Given the description of an element on the screen output the (x, y) to click on. 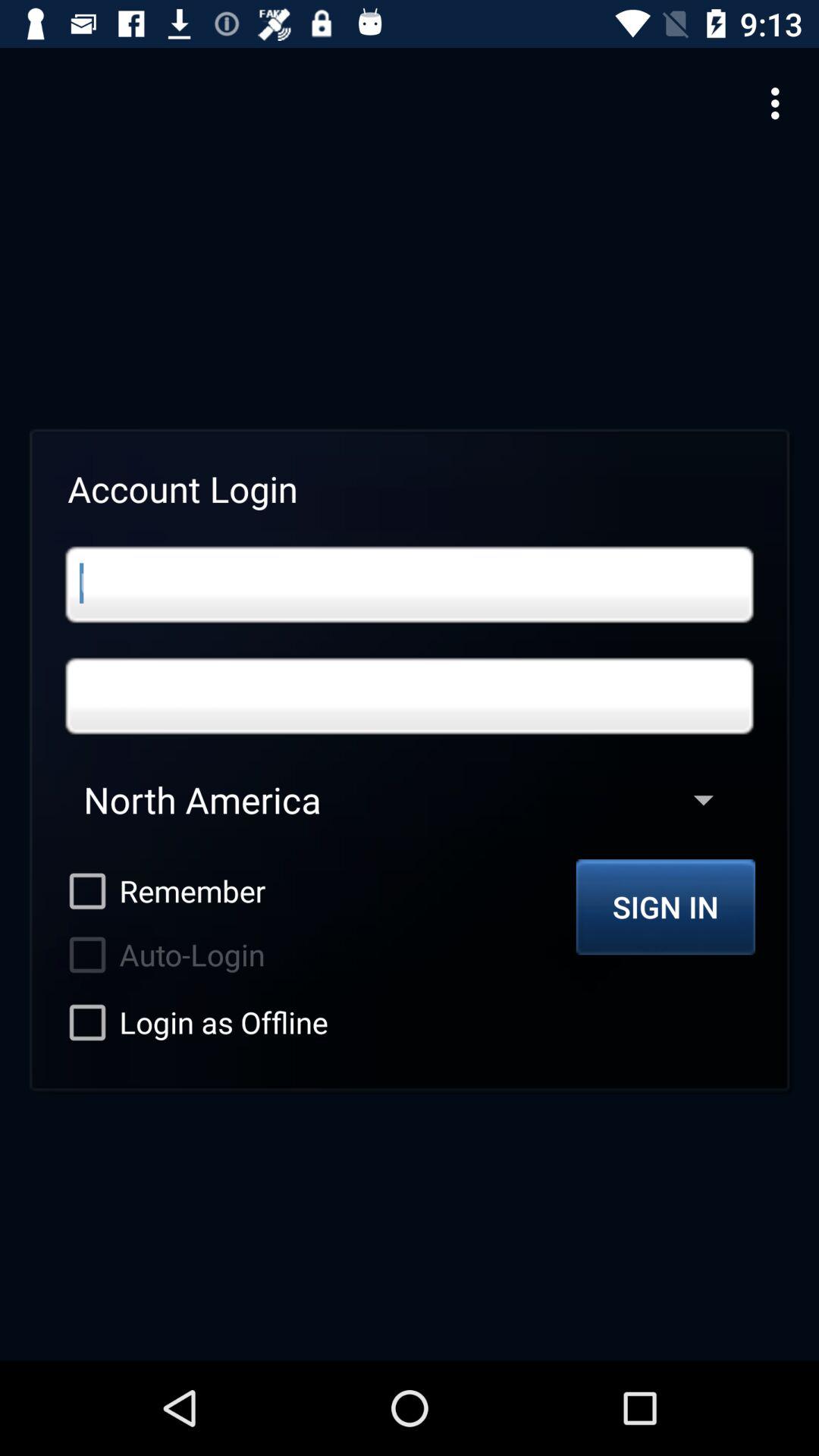
login credentials (409, 584)
